Given the description of an element on the screen output the (x, y) to click on. 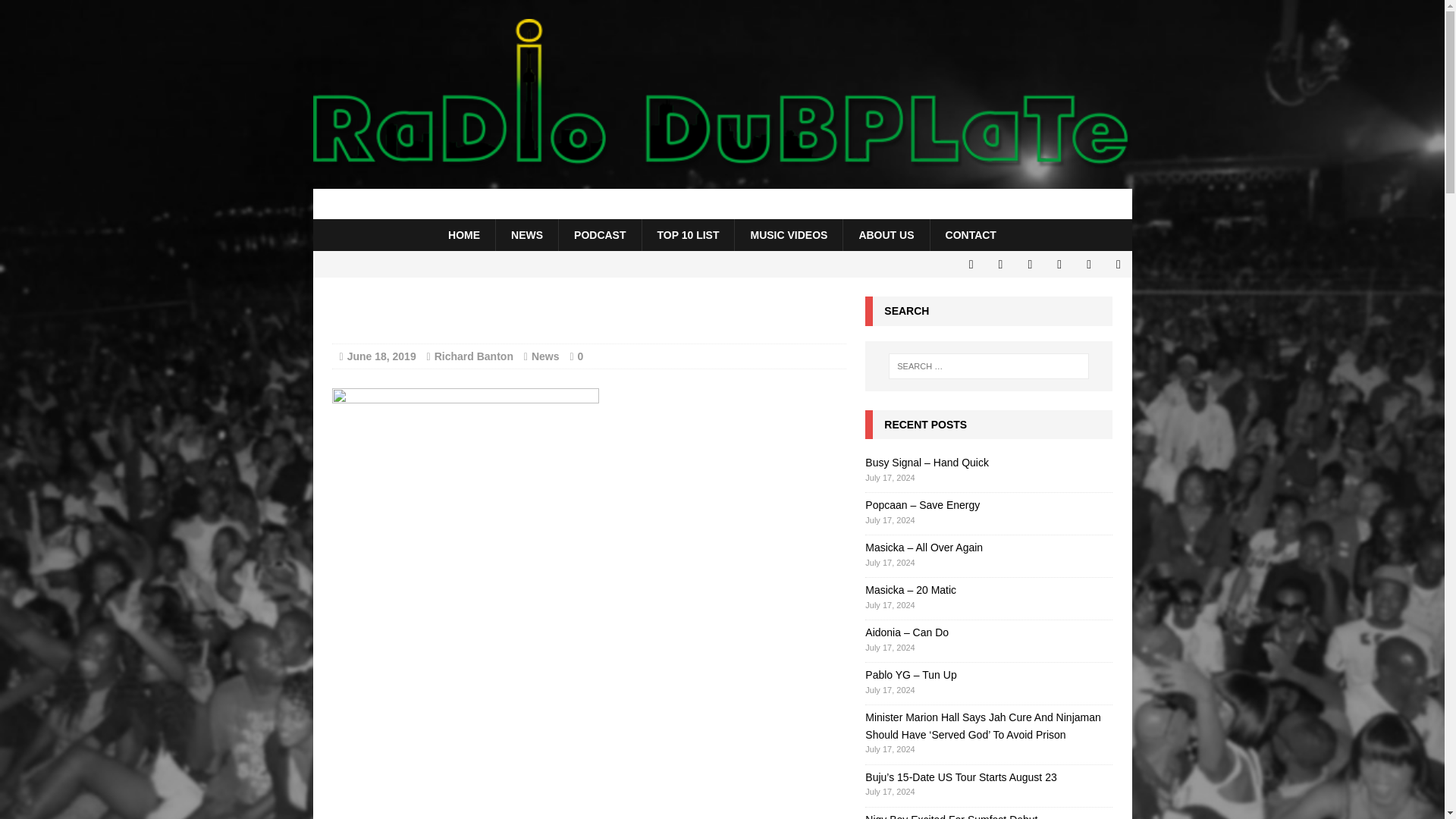
NEWS (526, 234)
Radio Dubplate (722, 204)
0 (580, 356)
News (545, 356)
CONTACT (970, 234)
June 18, 2019 (381, 356)
HOME (463, 234)
PODCAST (598, 234)
0 (580, 356)
Richard Banton (473, 356)
ABOUT US (885, 234)
MUSIC VIDEOS (788, 234)
TOP 10 LIST (688, 234)
